Given the description of an element on the screen output the (x, y) to click on. 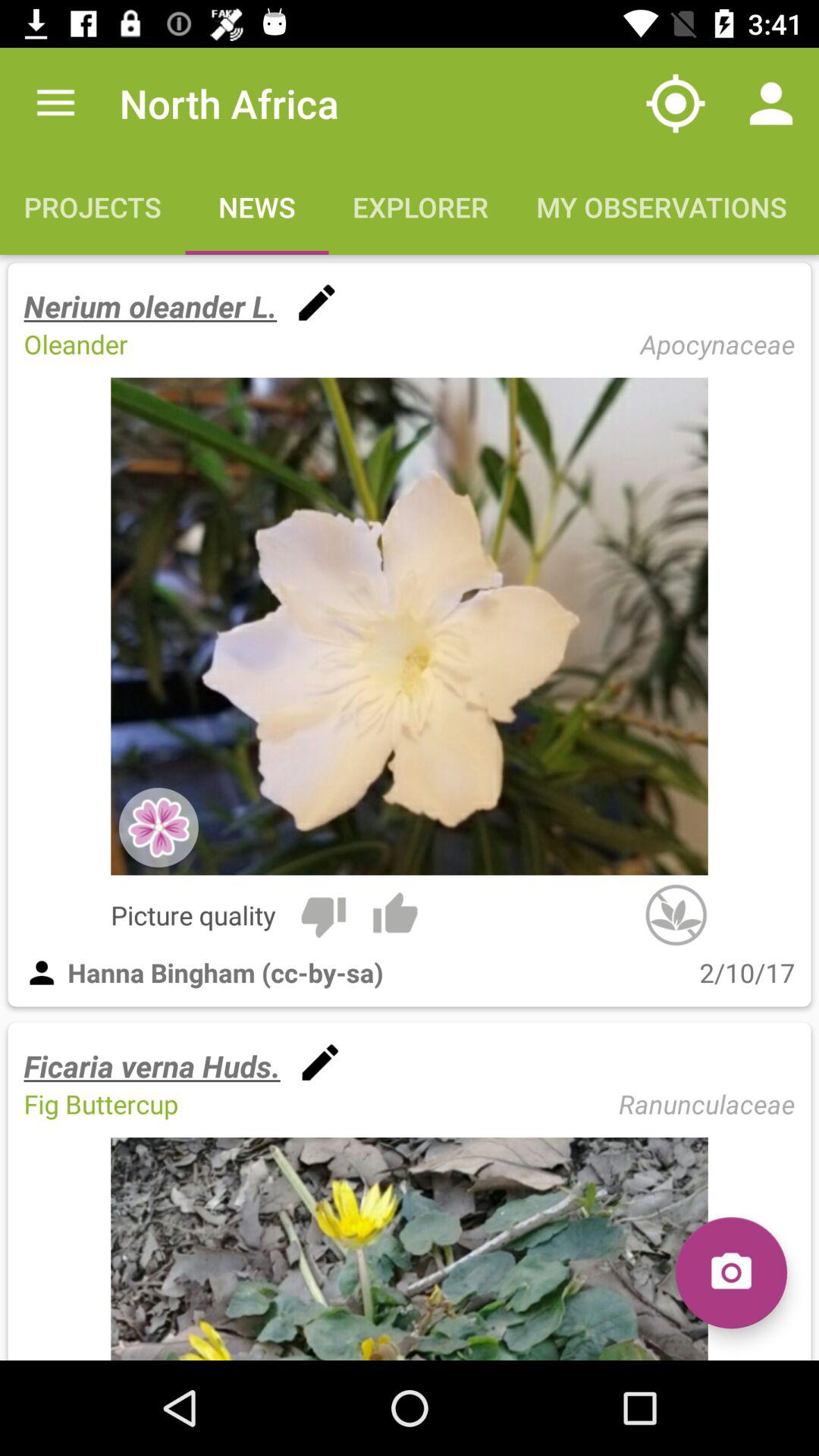
click icon above the projects item (55, 103)
